Given the description of an element on the screen output the (x, y) to click on. 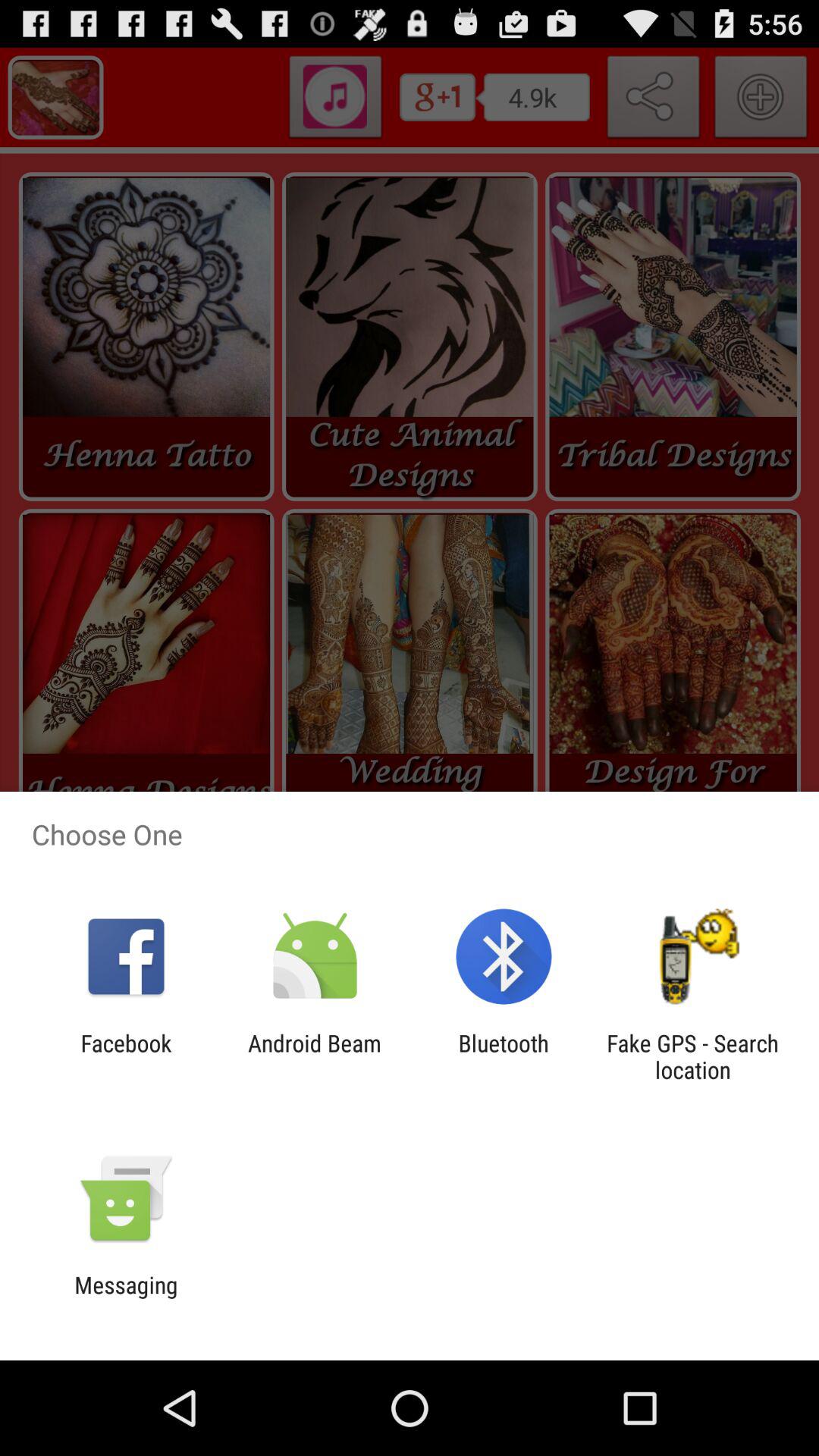
click the messaging app (126, 1298)
